Given the description of an element on the screen output the (x, y) to click on. 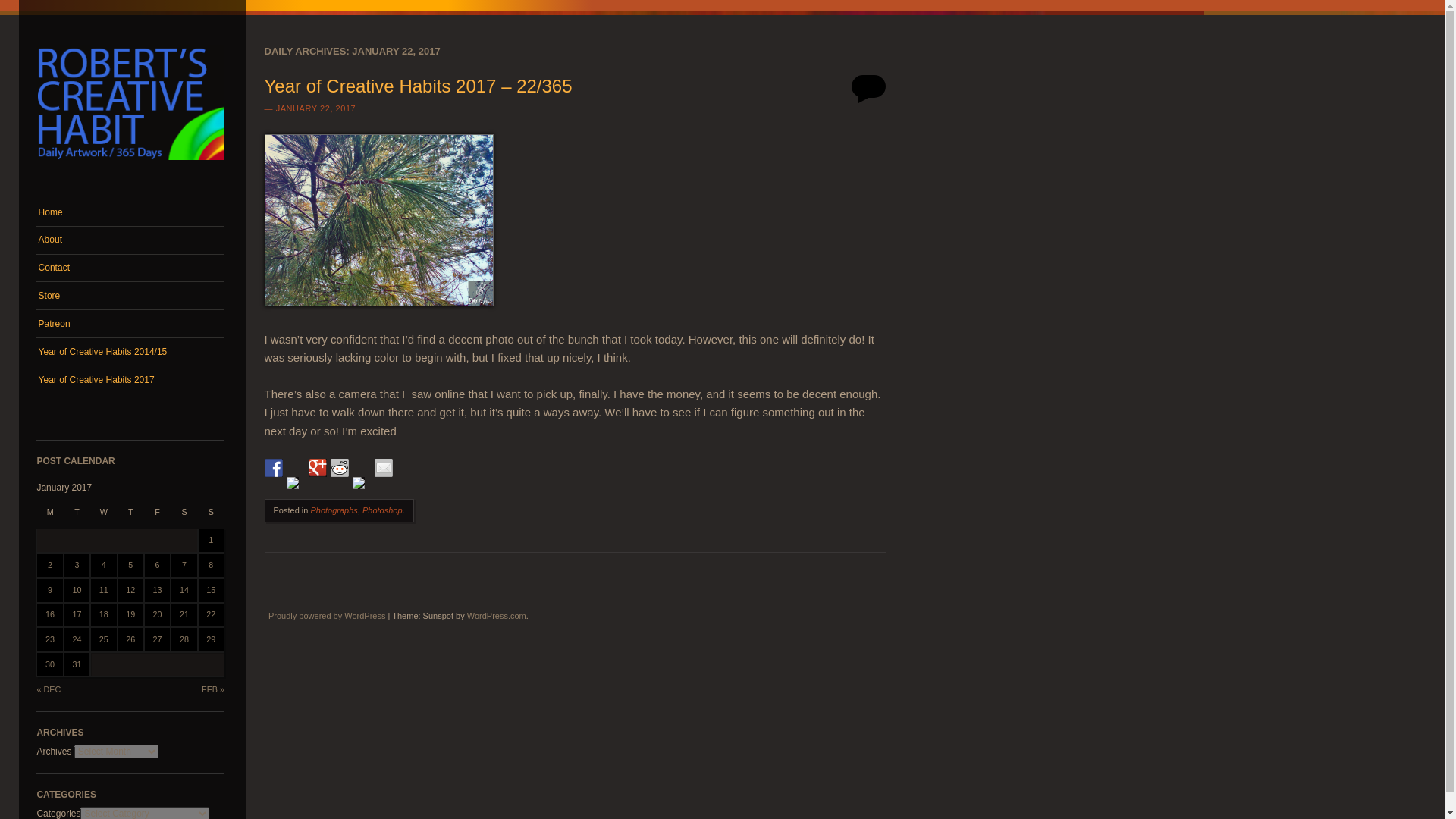
Wednesday (103, 517)
14 (184, 589)
Skip to content (66, 205)
24 (76, 638)
28 (184, 638)
27 (156, 638)
25 (103, 638)
20 (156, 614)
Robert's Creative Habit (130, 164)
Friday (157, 517)
Store (130, 295)
Tuesday (77, 517)
21 (184, 614)
Sunday (211, 517)
13 (156, 589)
